Given the description of an element on the screen output the (x, y) to click on. 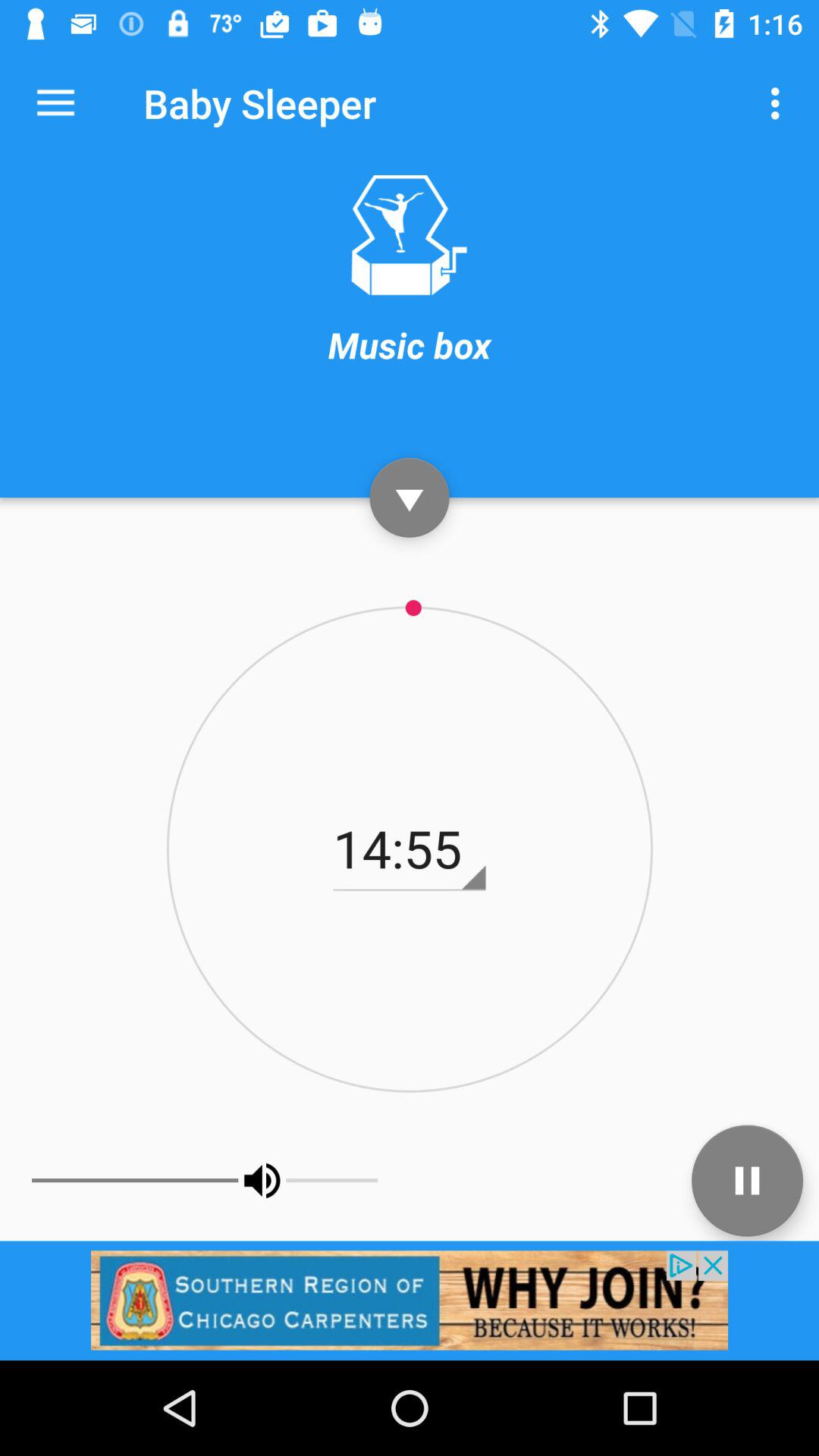
pause track (747, 1180)
